Given the description of an element on the screen output the (x, y) to click on. 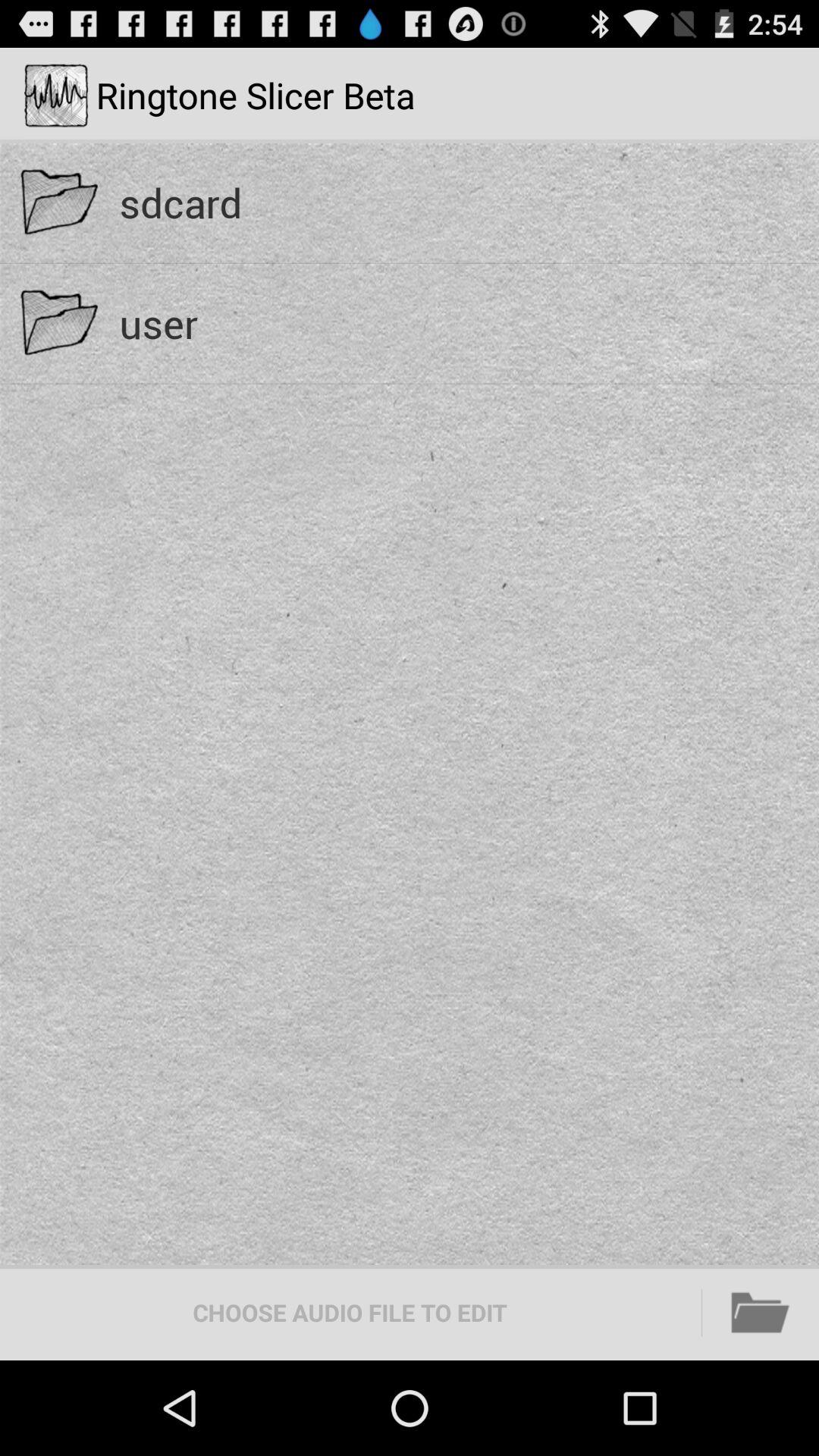
turn on choose audio file (349, 1312)
